Given the description of an element on the screen output the (x, y) to click on. 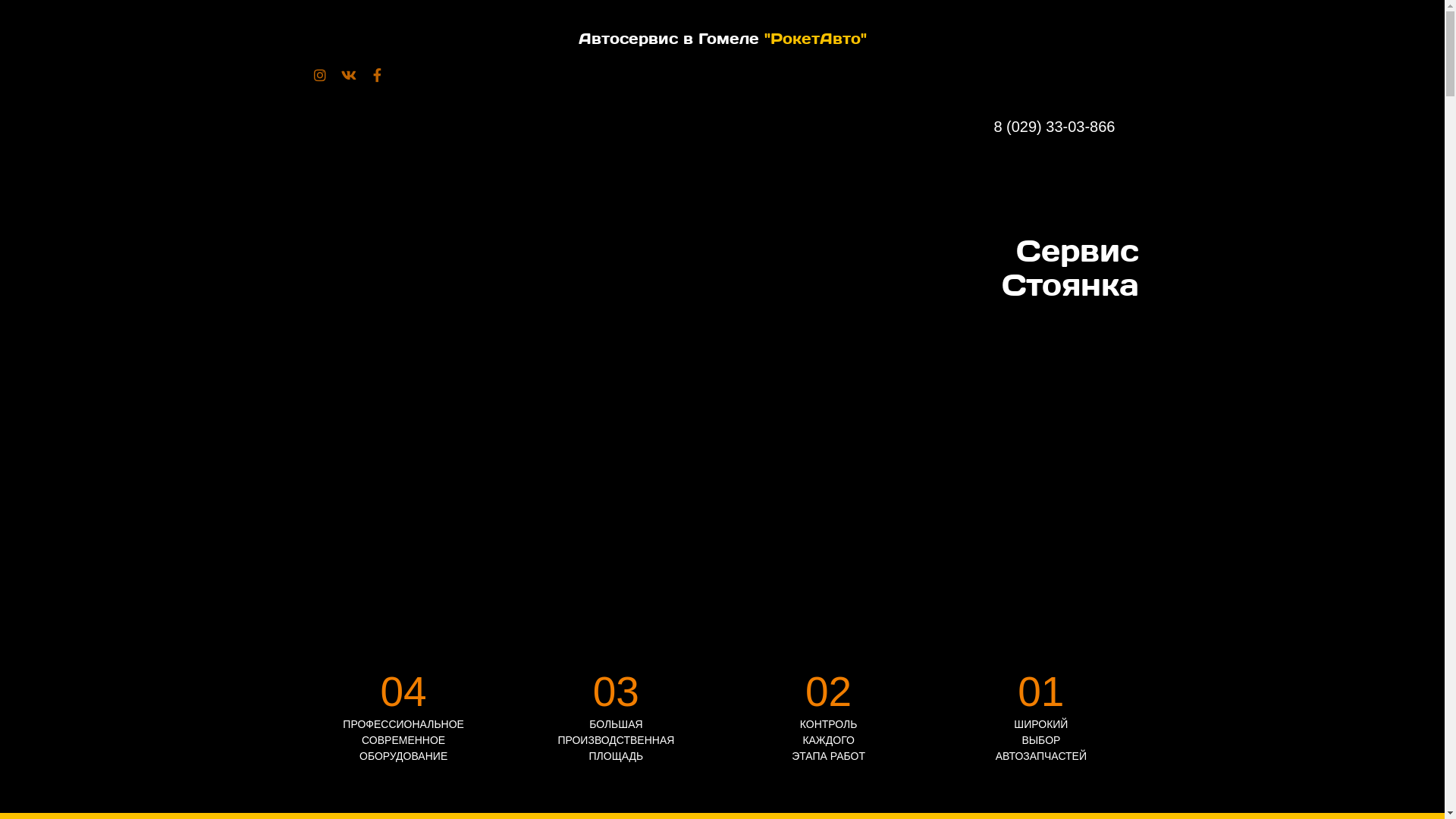
8 (029) 33-03-866 Element type: text (1066, 126)
